Given the description of an element on the screen output the (x, y) to click on. 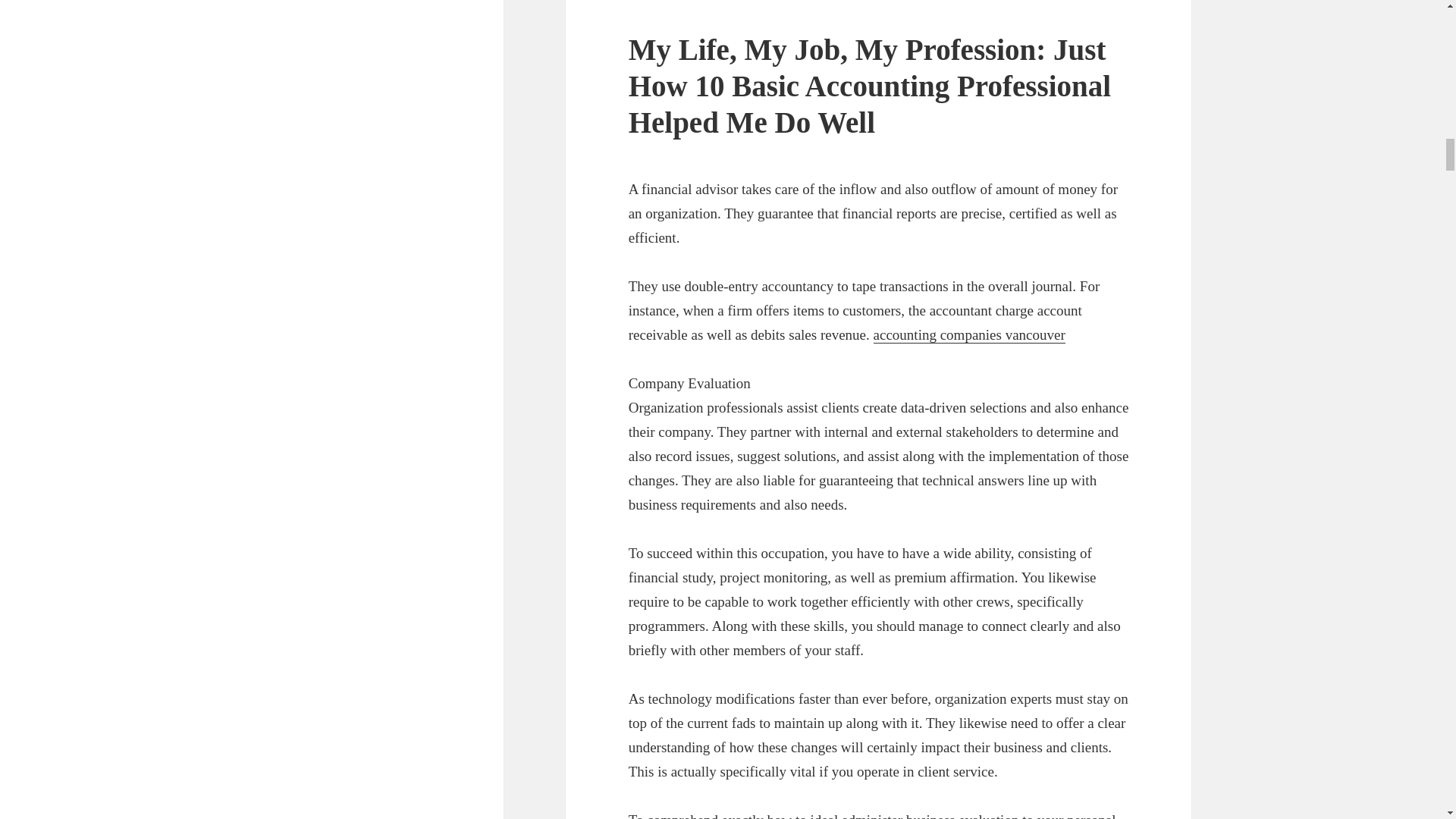
accounting companies vancouver (969, 334)
